Given the description of an element on the screen output the (x, y) to click on. 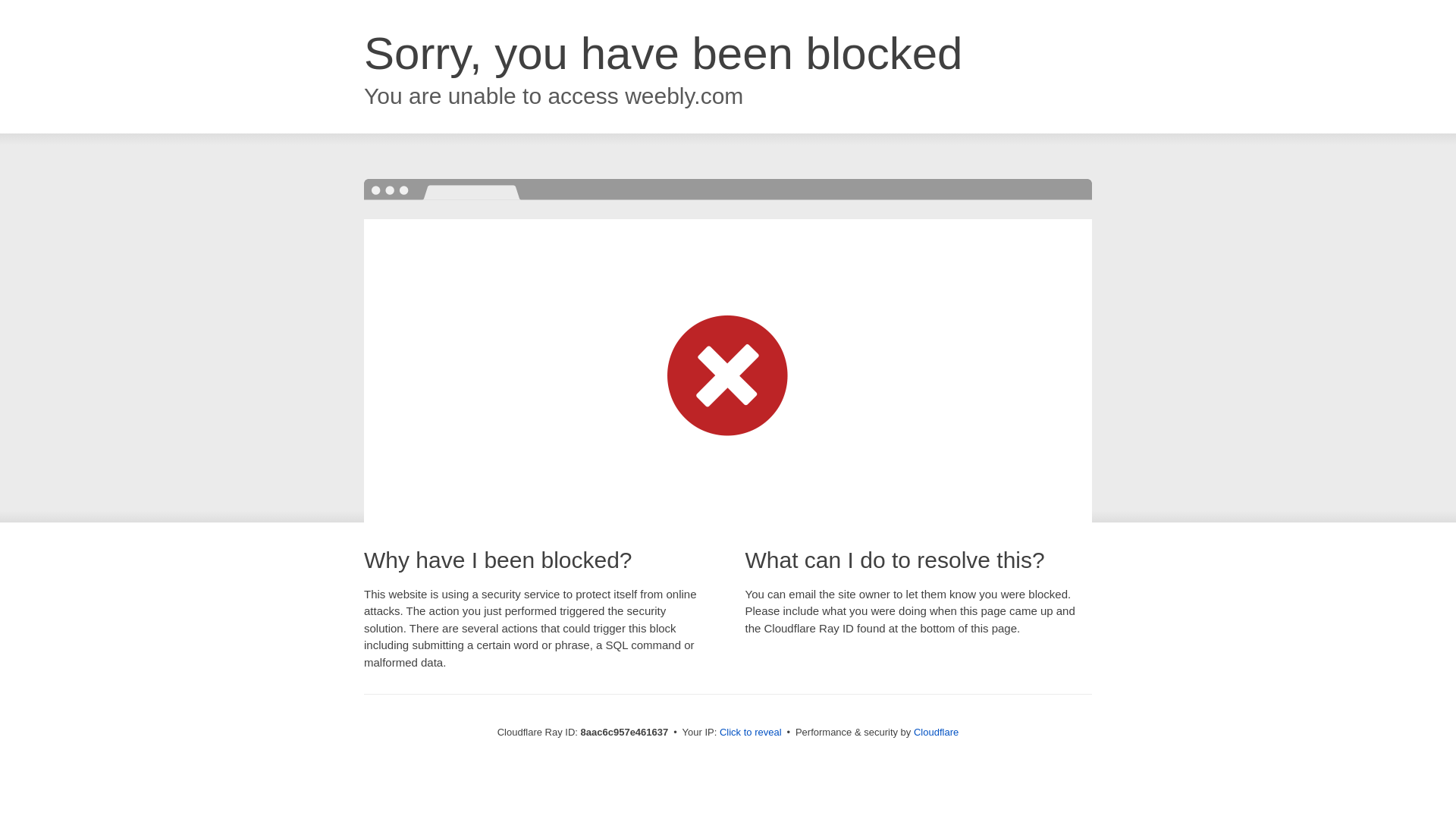
Click to reveal (750, 732)
Cloudflare (936, 731)
